Given the description of an element on the screen output the (x, y) to click on. 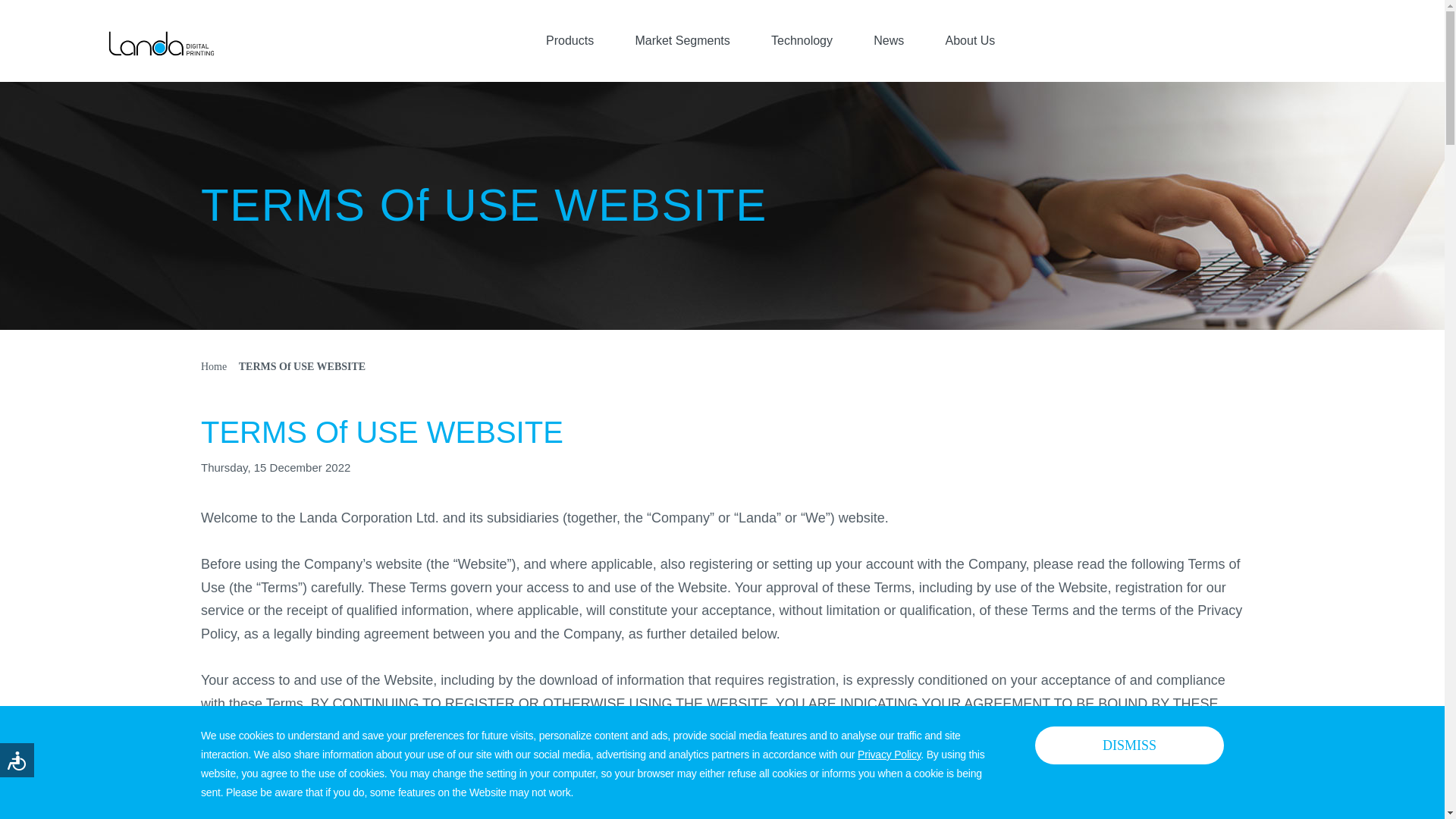
Products (570, 40)
News (888, 40)
About Us (969, 40)
Market Segments (681, 40)
Technology (801, 40)
